Given the description of an element on the screen output the (x, y) to click on. 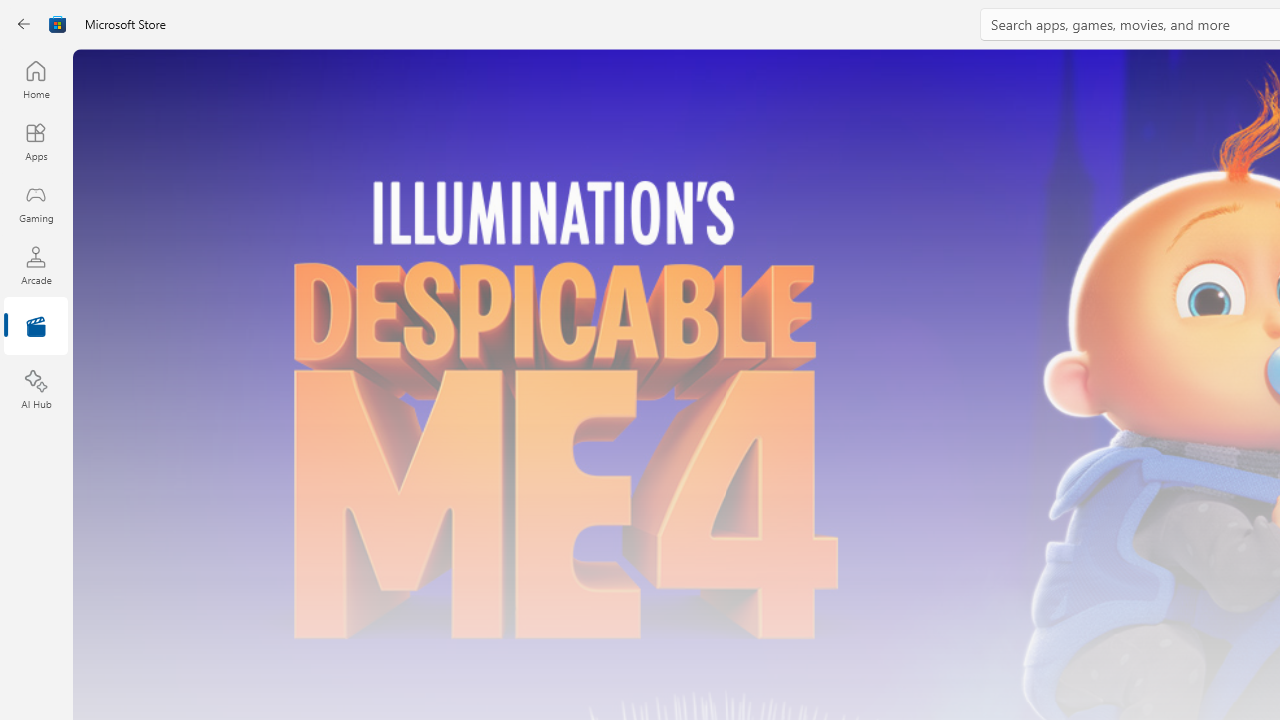
Entertainment (35, 327)
AI Hub (35, 390)
Arcade (35, 265)
Back (24, 24)
Apps (35, 141)
Home (35, 79)
Gaming (35, 203)
Class: Image (58, 24)
